Given the description of an element on the screen output the (x, y) to click on. 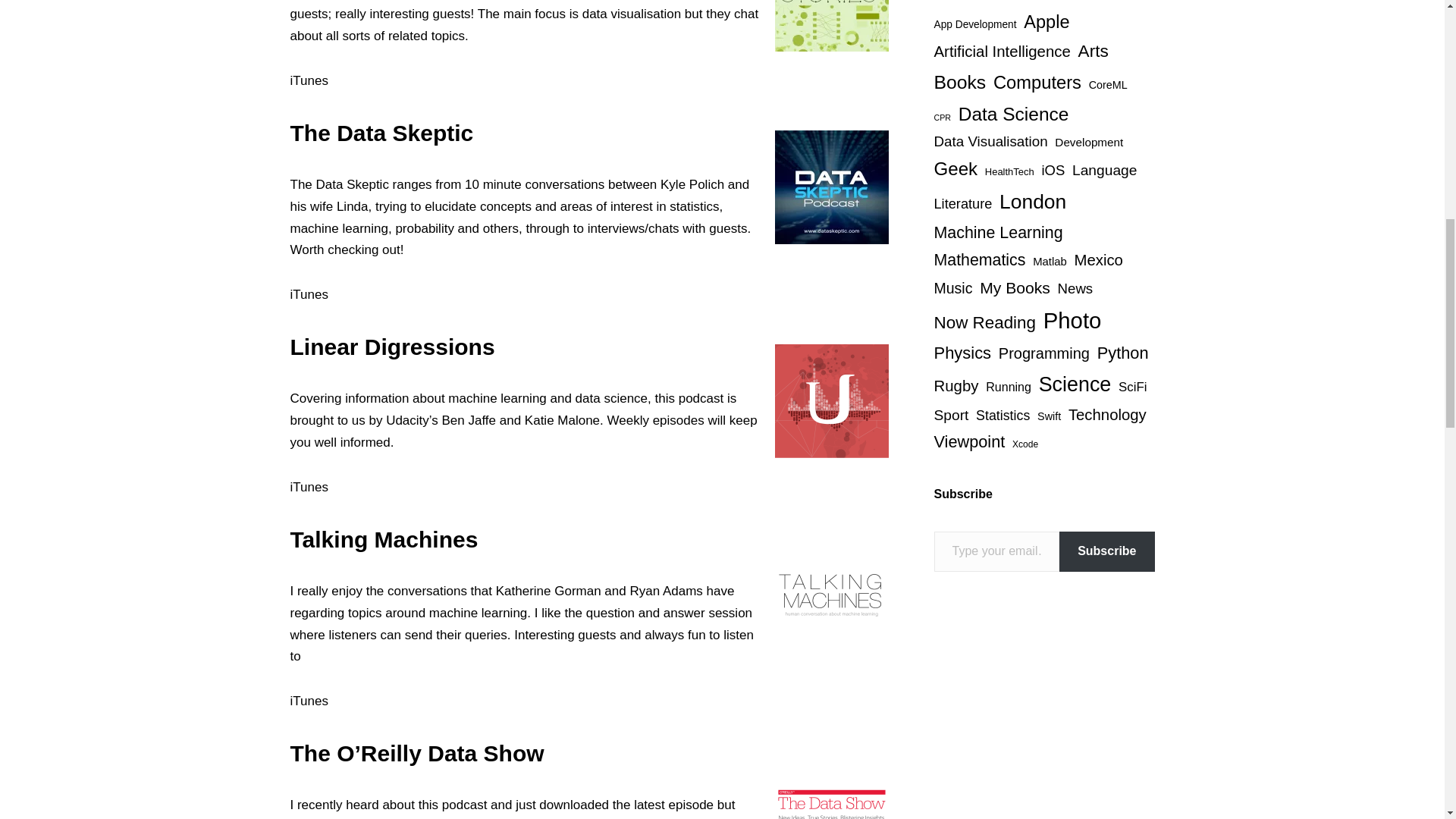
iTunes (308, 486)
Talking Machines (383, 539)
Please fill in this field. (996, 551)
The Data Skeptic (381, 132)
Linear Digressions (392, 346)
iTunes (308, 80)
iTunes (308, 700)
iTunes (308, 294)
